Given the description of an element on the screen output the (x, y) to click on. 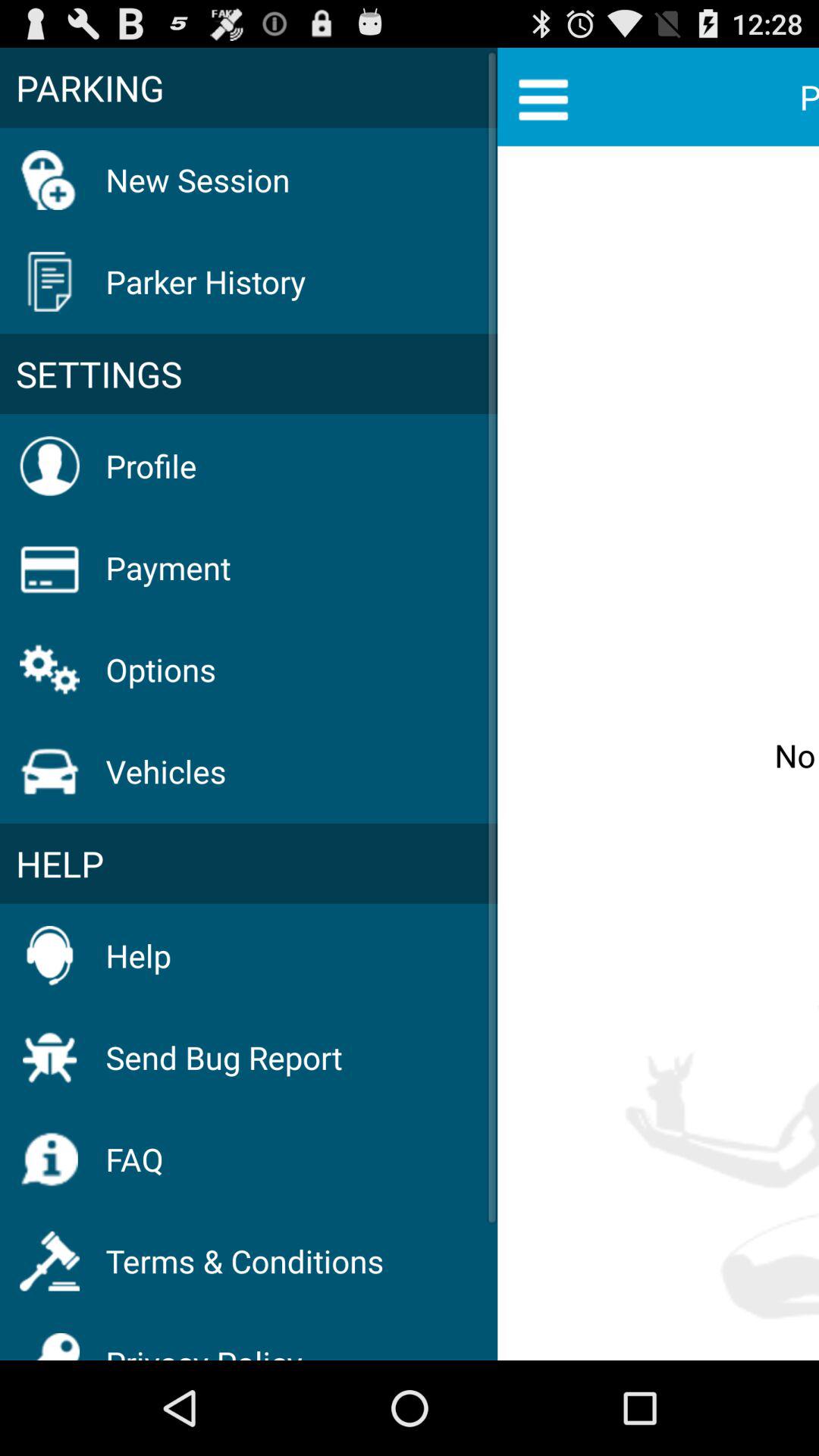
turn off the item above options icon (167, 567)
